Given the description of an element on the screen output the (x, y) to click on. 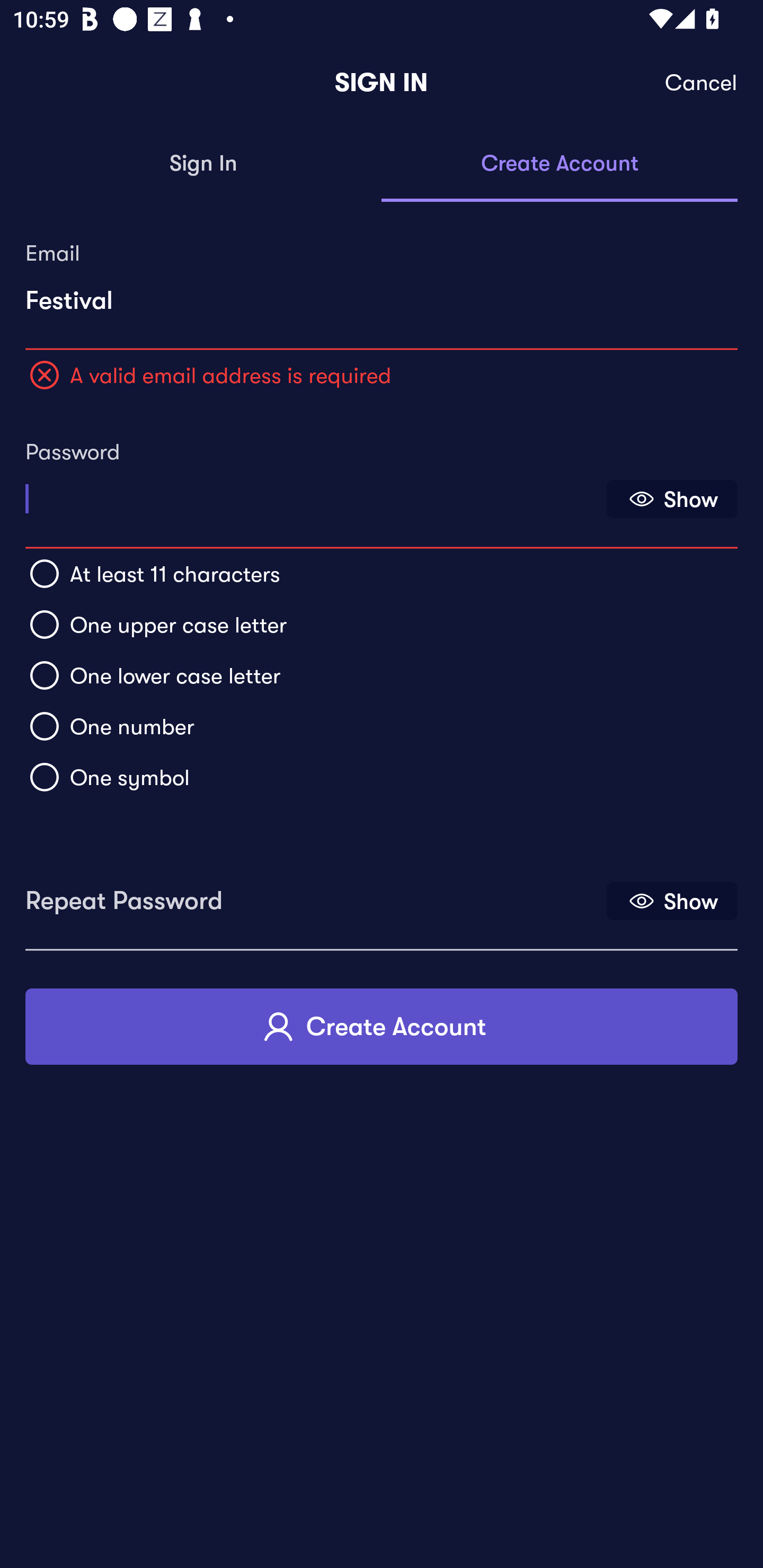
Cancel (701, 82)
Sign In (203, 164)
Create Account (559, 164)
Password, error message, At least 11 characters (314, 493)
Show Password Show (671, 498)
Repeat Password (314, 894)
Show Repeat Password Show (671, 900)
Create Account (381, 1025)
